Given the description of an element on the screen output the (x, y) to click on. 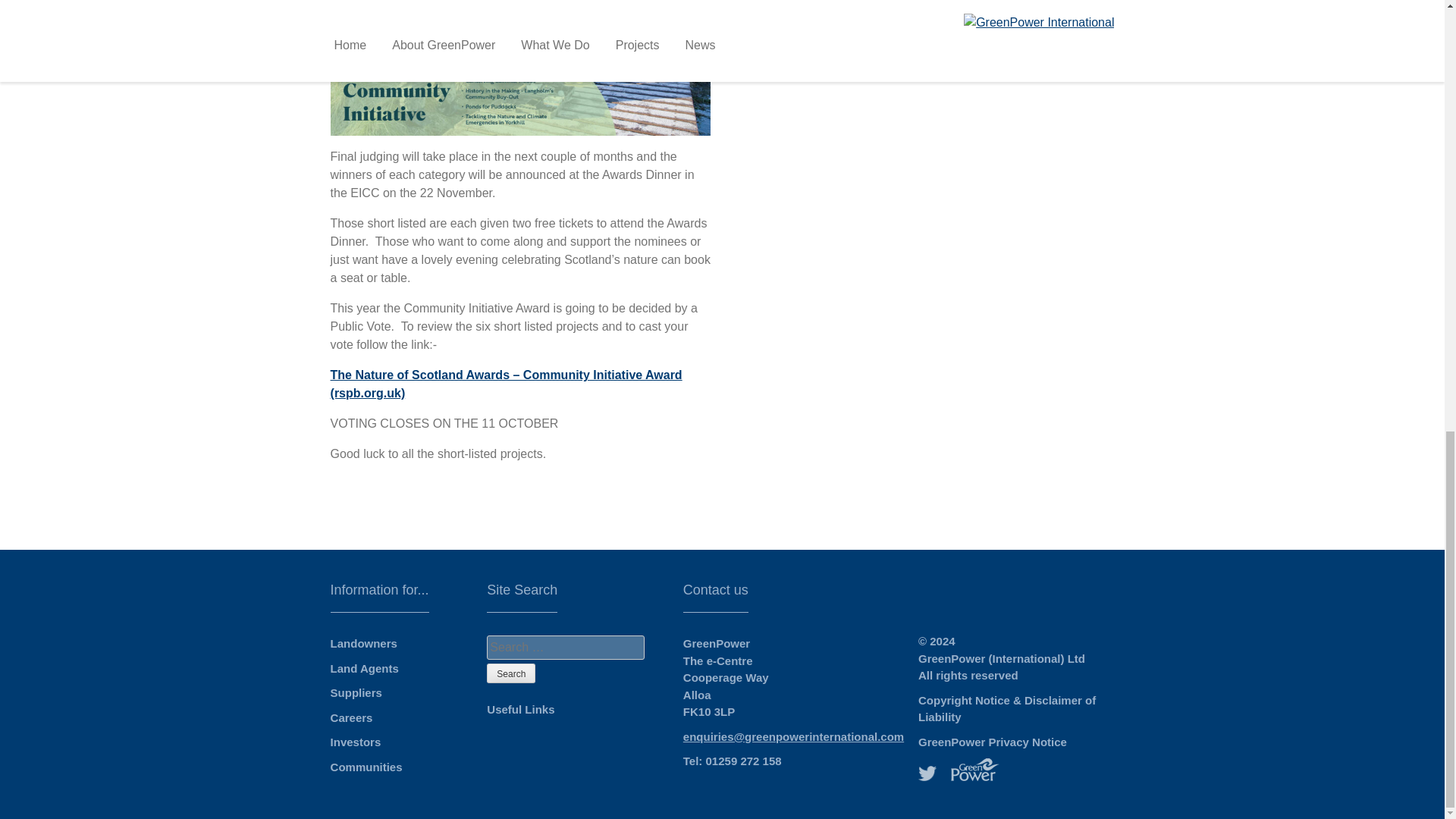
Search (510, 673)
Search (510, 673)
Landowners (363, 643)
Land Agents (364, 667)
